Given the description of an element on the screen output the (x, y) to click on. 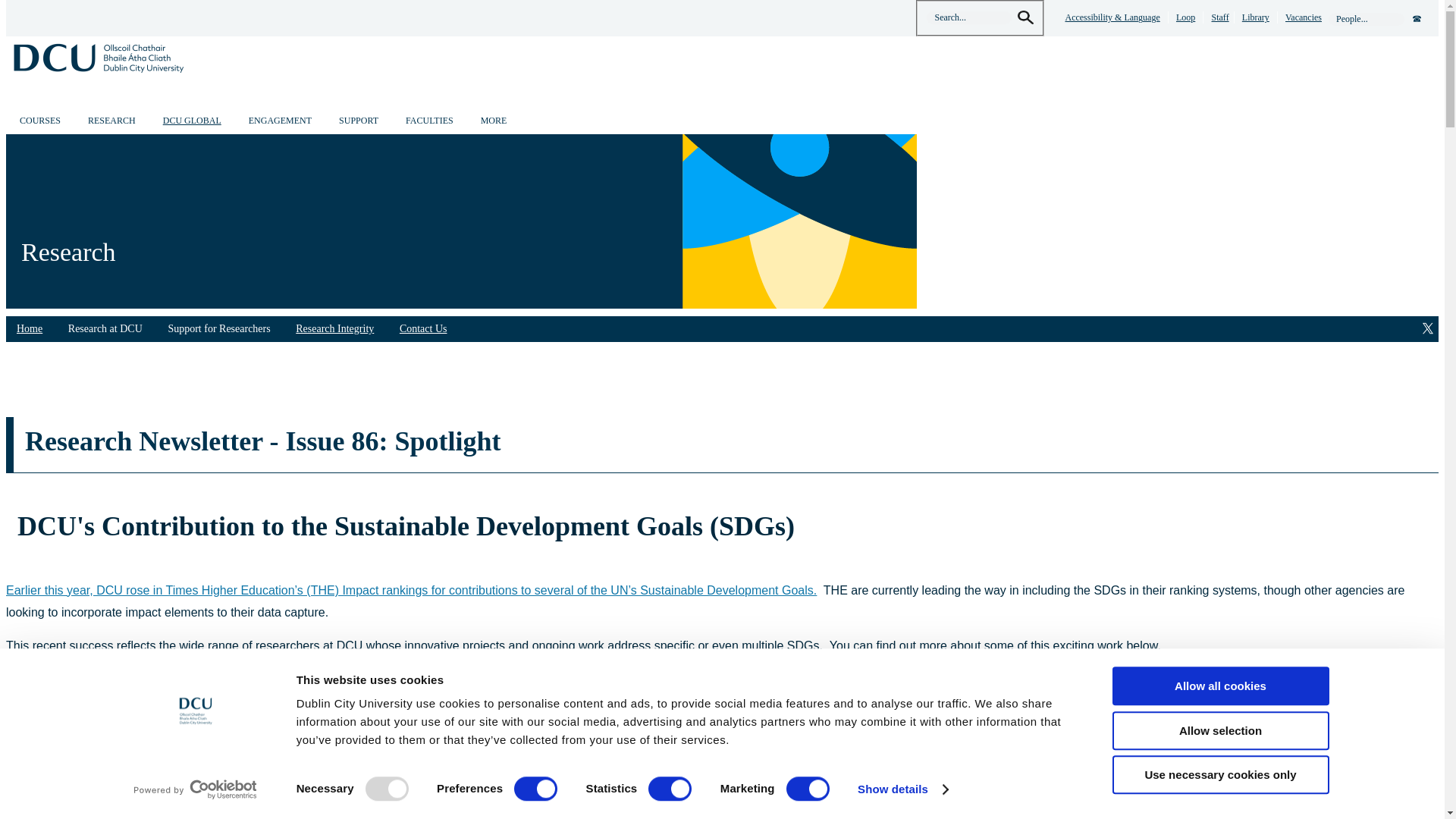
Show details (902, 789)
People... (1366, 19)
Search... (968, 17)
People... (1366, 19)
